Given the description of an element on the screen output the (x, y) to click on. 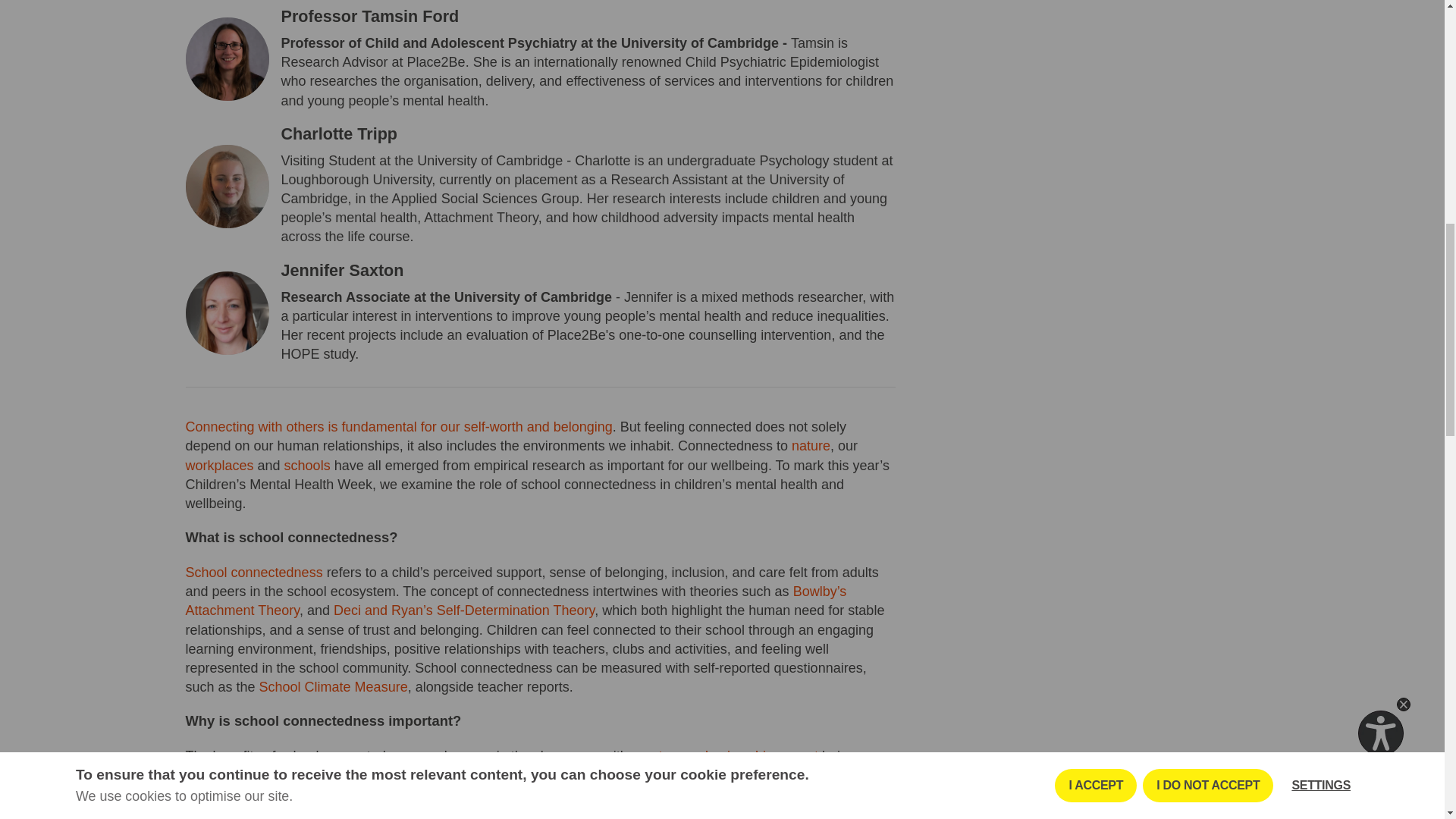
nature (810, 445)
Jennifer Saxton (342, 270)
Professor Tamsin Ford (369, 15)
Charlotte Tripp (339, 133)
